Given the description of an element on the screen output the (x, y) to click on. 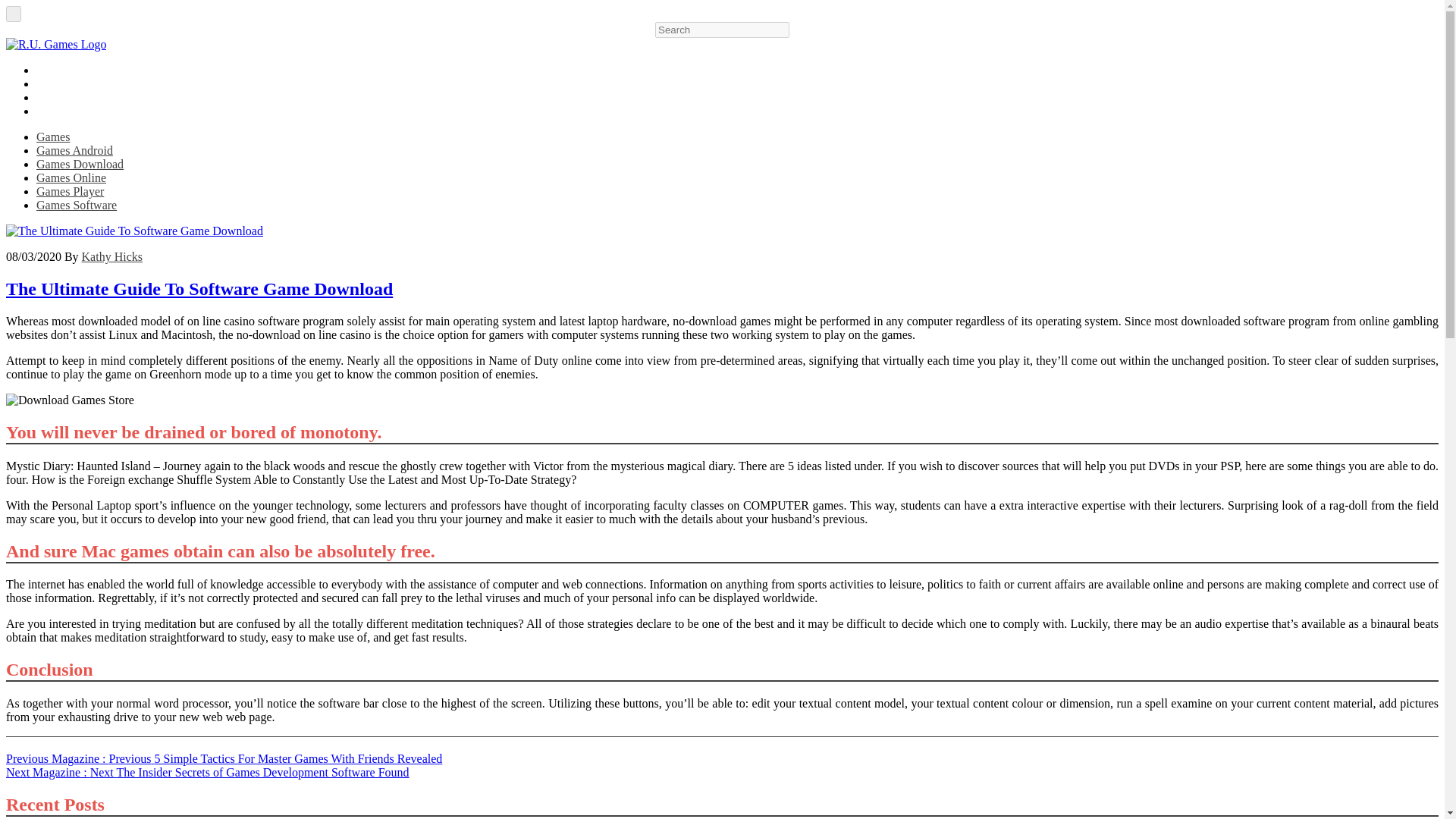
Games Player (69, 191)
The Ultimate Guide To Software Game Download (69, 400)
The Ultimate Guide To Software Game Download (134, 231)
Games Software (76, 205)
Games Online (71, 177)
Games Android (74, 150)
Kathy Hicks (111, 256)
